Given the description of an element on the screen output the (x, y) to click on. 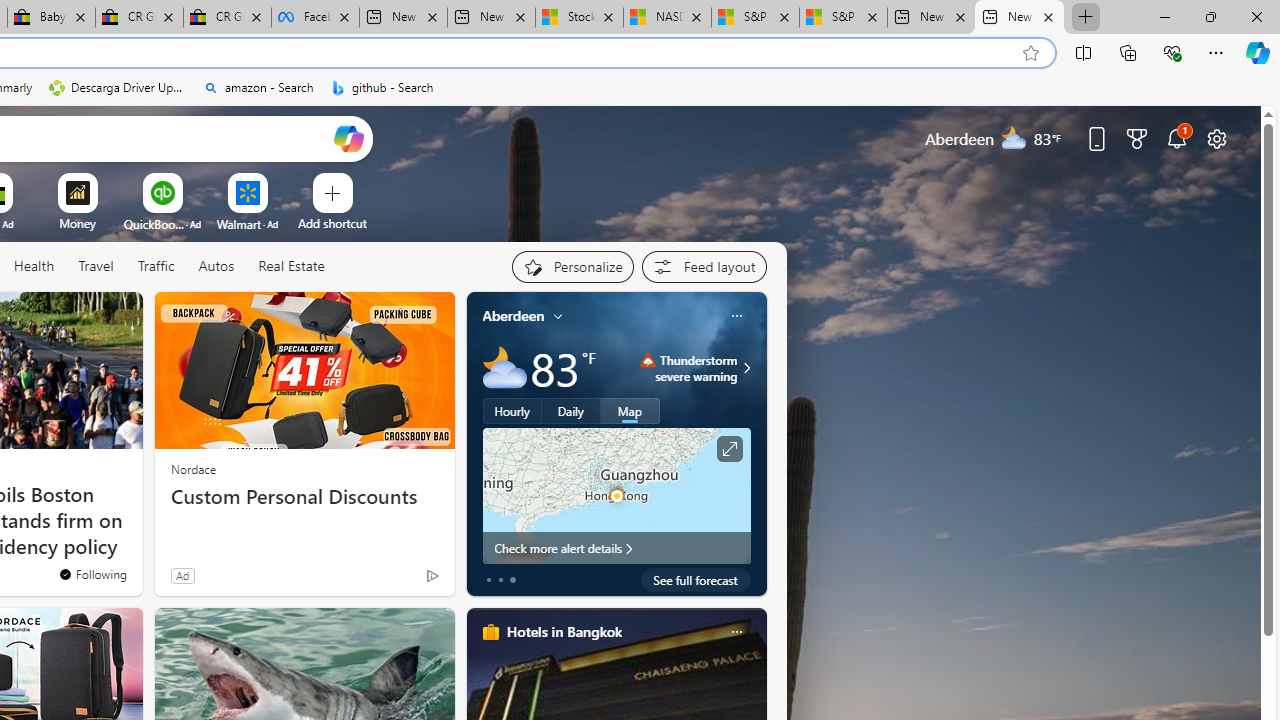
Map (630, 411)
Hourly (511, 411)
github - Search (381, 88)
Custom Personal Discounts (304, 497)
Thunderstorm - Severe Thunderstorm severe warning (689, 367)
Health (33, 267)
Money (77, 223)
Thunderstorm - Severe (648, 359)
Feed settings (703, 266)
Page settings (1216, 138)
